Given the description of an element on the screen output the (x, y) to click on. 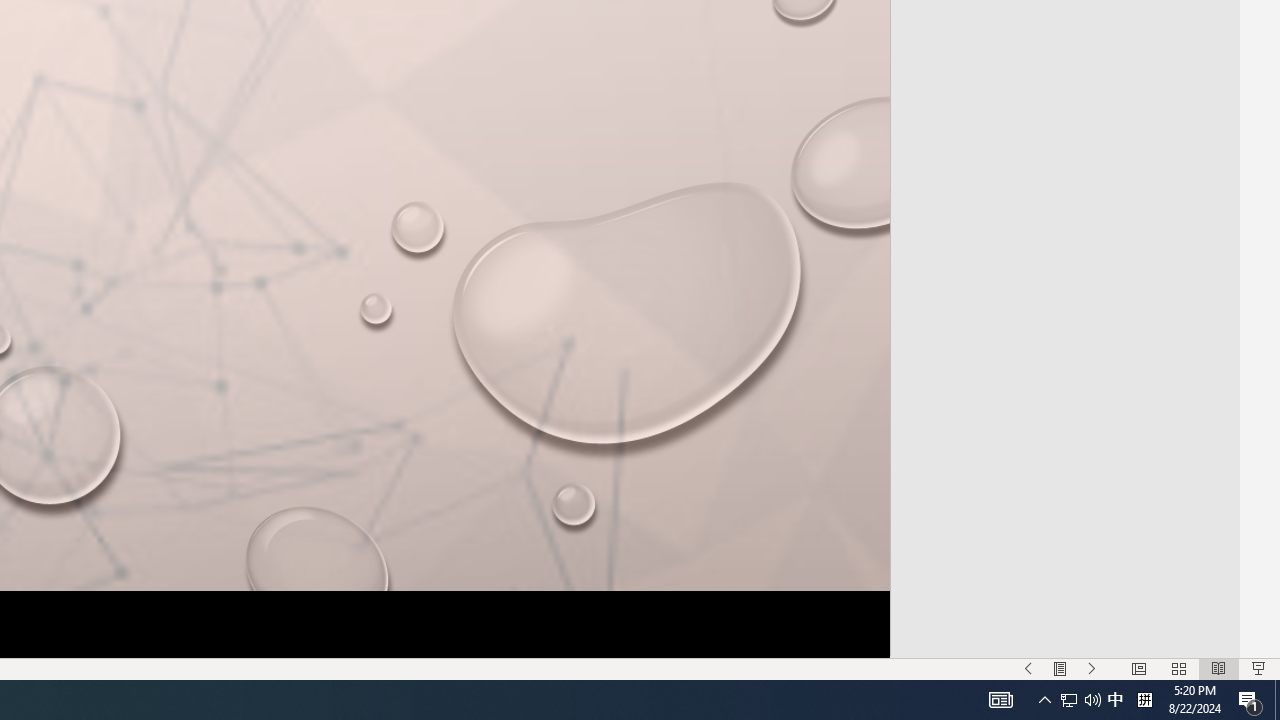
Danish (1063, 351)
Chhattisgarhi (1063, 105)
Slide Show Previous On (1028, 668)
Croatian (1063, 269)
Divehi (1063, 434)
Chinese (Literary) (1063, 146)
Estonian (1063, 598)
